Given the description of an element on the screen output the (x, y) to click on. 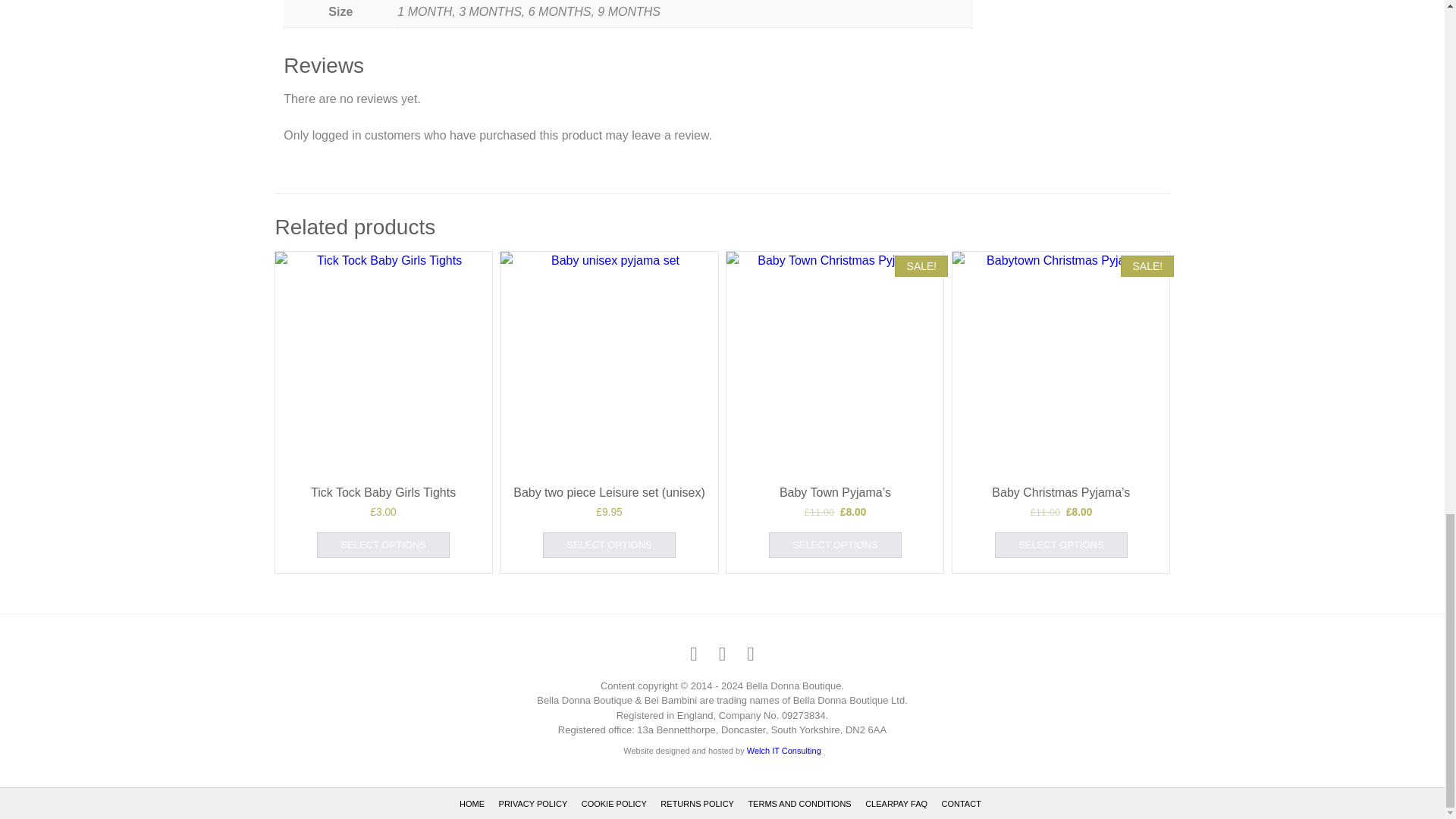
CLEARPAY FAQ (895, 803)
HOME (472, 803)
COOKIE POLICY (613, 803)
SELECT OPTIONS (609, 544)
PRIVACY POLICY (533, 803)
Welch IT Consulting (783, 750)
SELECT OPTIONS (834, 544)
RETURNS POLICY (697, 803)
TERMS AND CONDITIONS (799, 803)
SELECT OPTIONS (1060, 544)
